Given the description of an element on the screen output the (x, y) to click on. 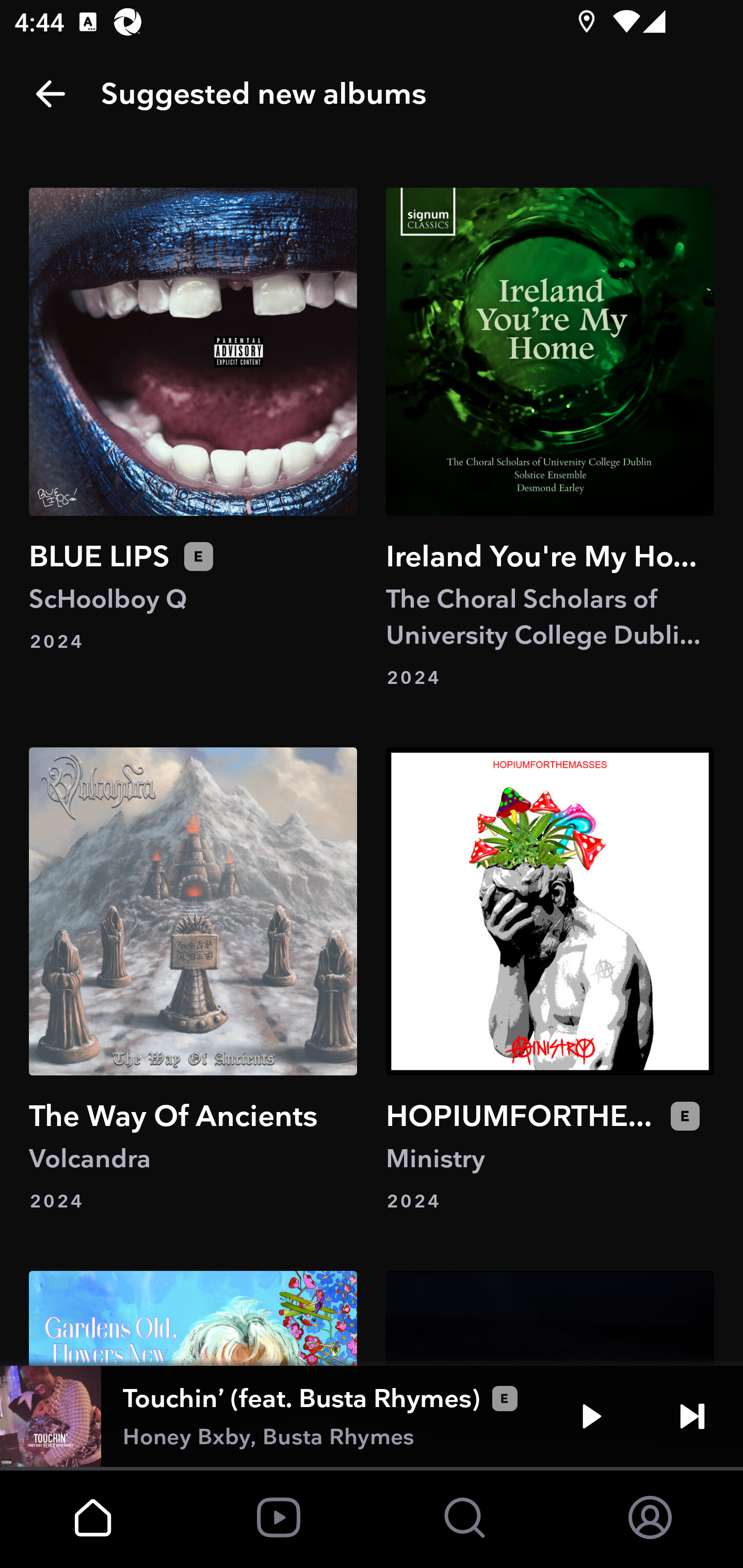
BLUE LIPS ScHoolboy Q 2024 (192, 438)
The Way Of Ancients Volcandra 2024 (192, 980)
HOPIUMFORTHEMASSES Ministry 2024 (549, 980)
Play (590, 1416)
